Given the description of an element on the screen output the (x, y) to click on. 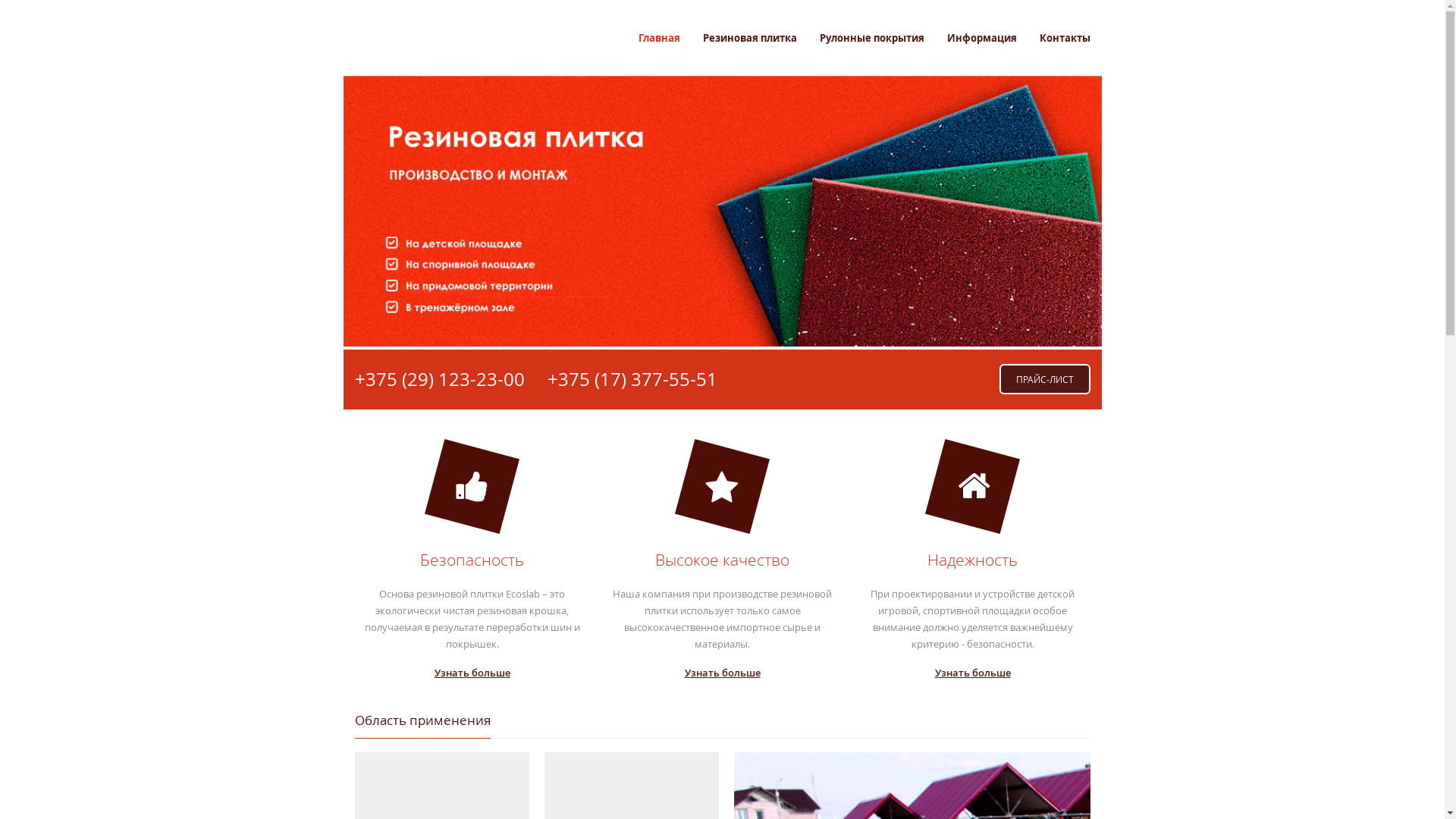
Ecoslab Element type: text (427, 35)
